Given the description of an element on the screen output the (x, y) to click on. 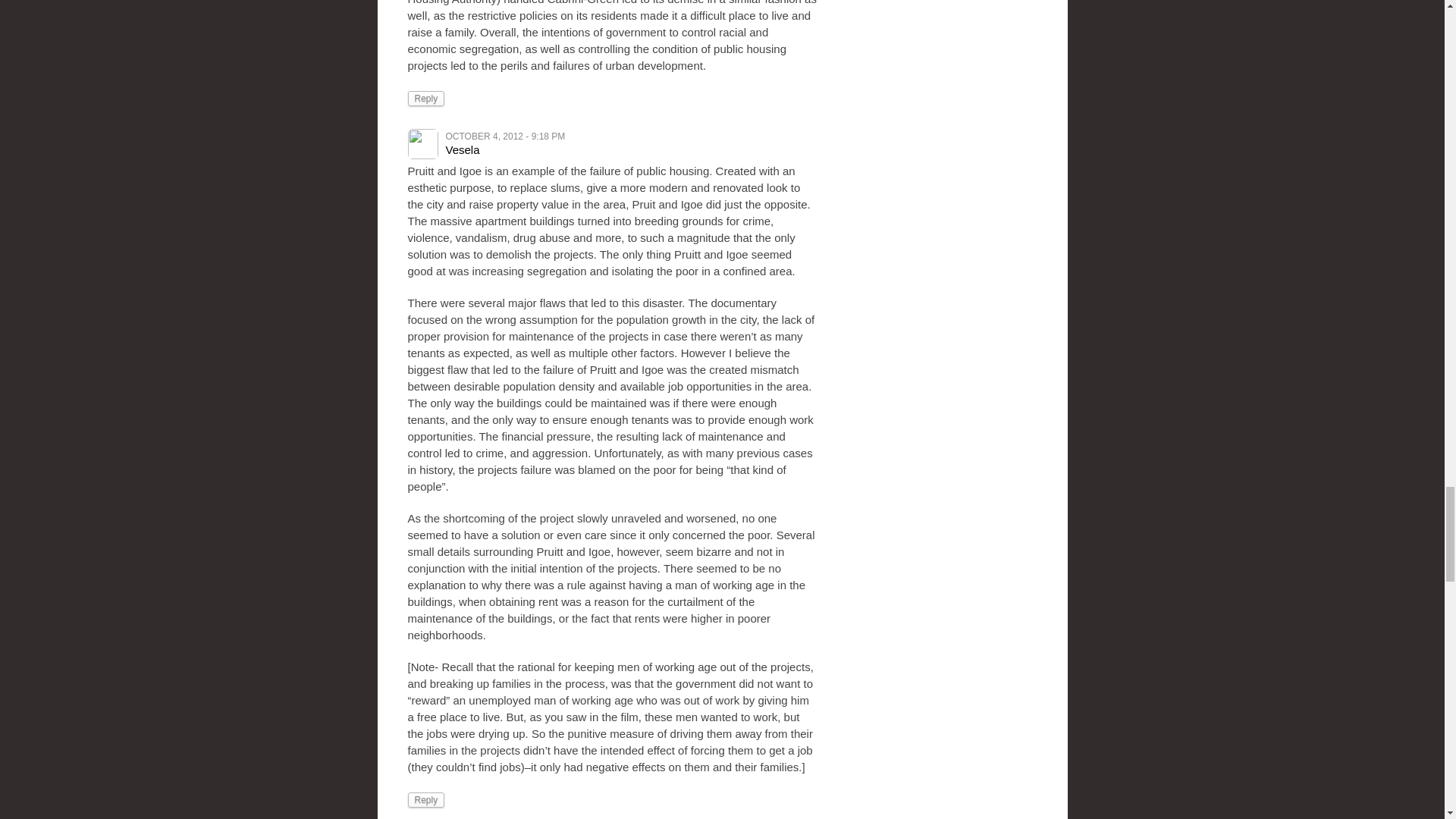
Reply (426, 799)
OCTOBER 4, 2012 - 9:18 PM (505, 136)
Reply (426, 98)
